Given the description of an element on the screen output the (x, y) to click on. 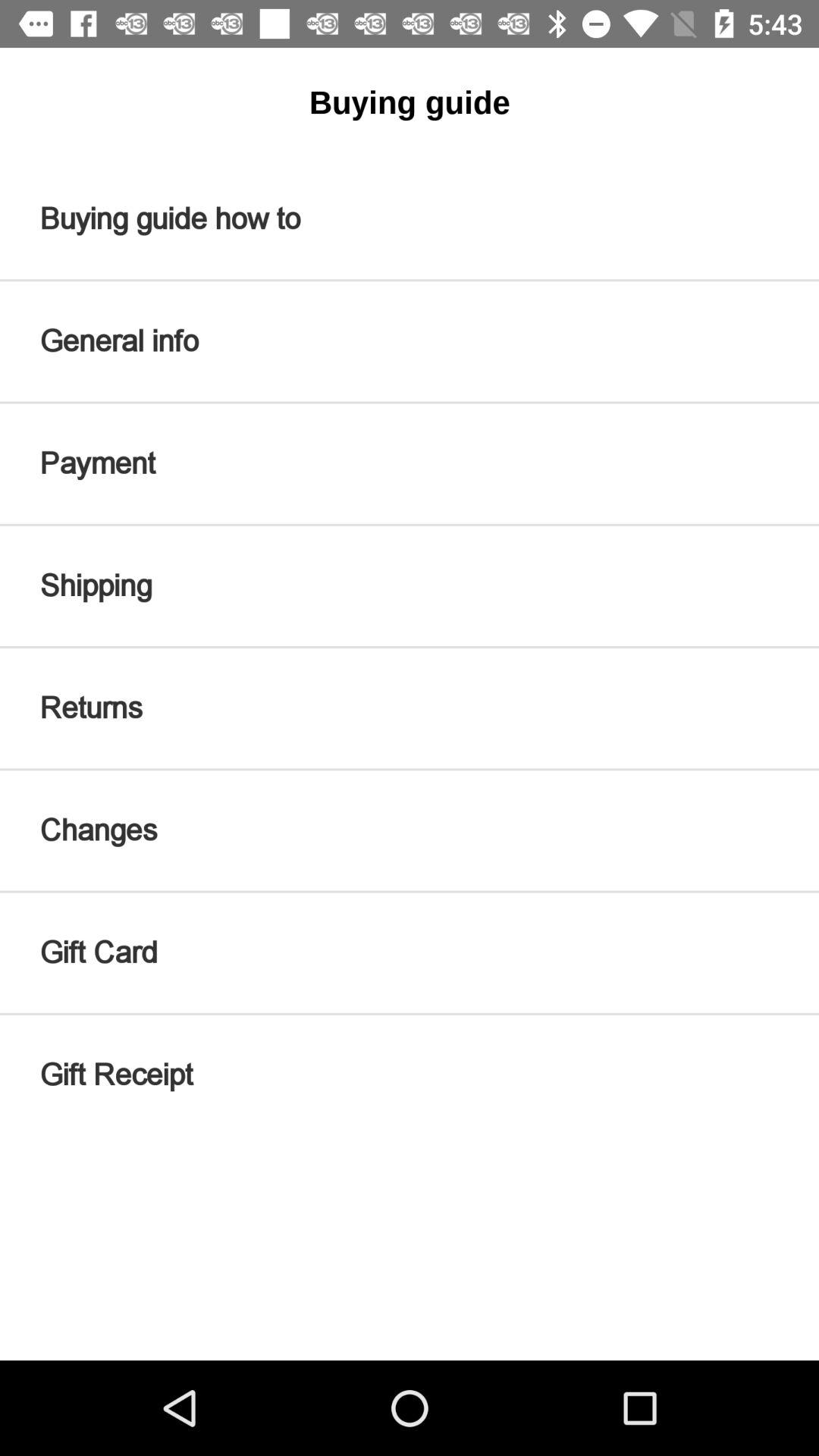
scroll until payment icon (409, 463)
